Given the description of an element on the screen output the (x, y) to click on. 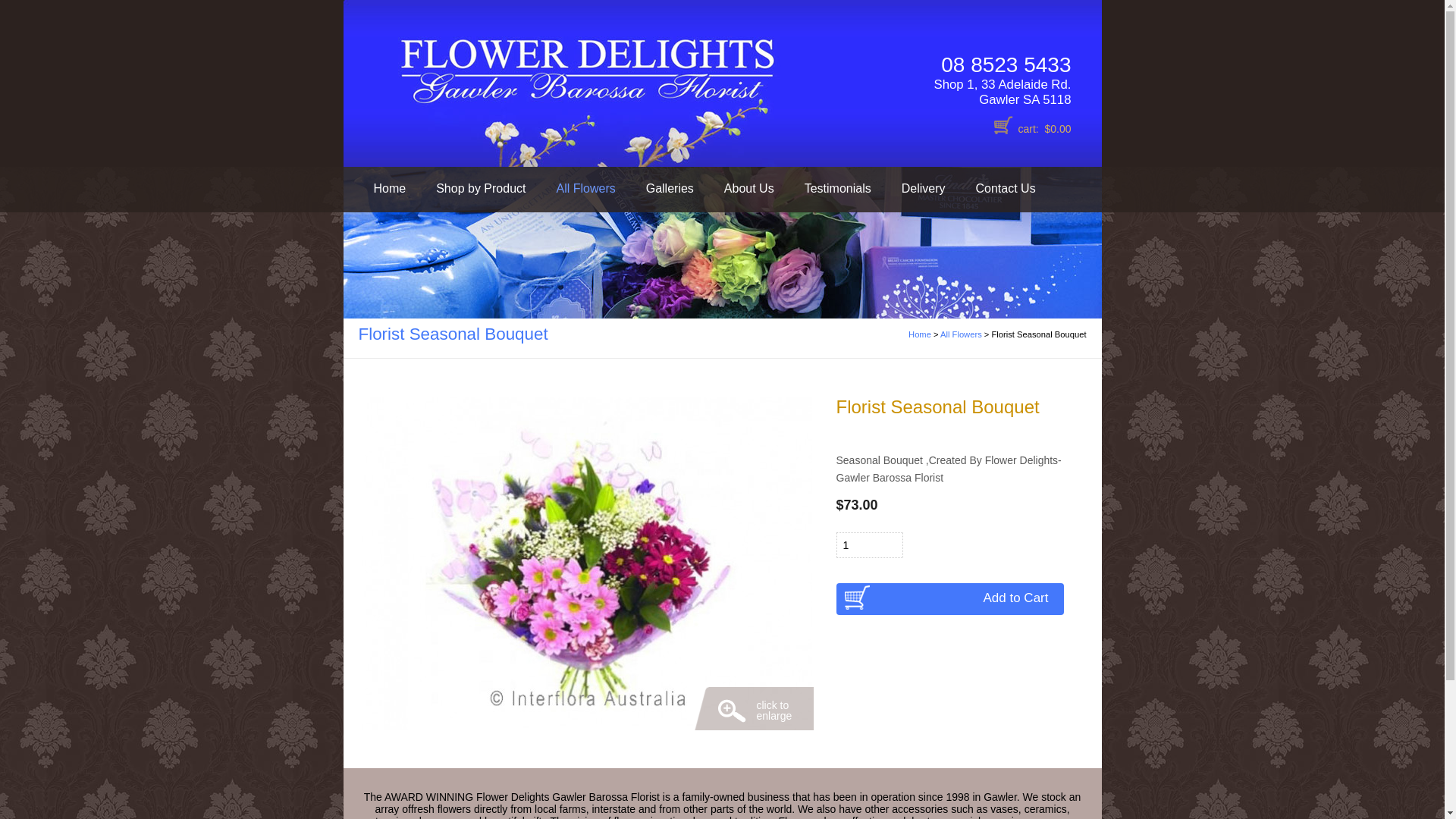
click to enlarge Element type: text (584, 563)
Home Element type: text (388, 188)
Shop by Product Element type: text (480, 188)
Home Element type: text (919, 333)
Galleries Element type: text (669, 188)
Add to Cart Element type: text (949, 599)
cart:  $0.00 Element type: text (1043, 128)
All Flowers Element type: text (585, 188)
Flower Delights Element type: text (456, 83)
Delivery Element type: text (923, 188)
About Us Element type: text (749, 188)
All Flowers Element type: text (961, 333)
Testimonials Element type: text (837, 188)
Contact Us Element type: text (1005, 188)
